Given the description of an element on the screen output the (x, y) to click on. 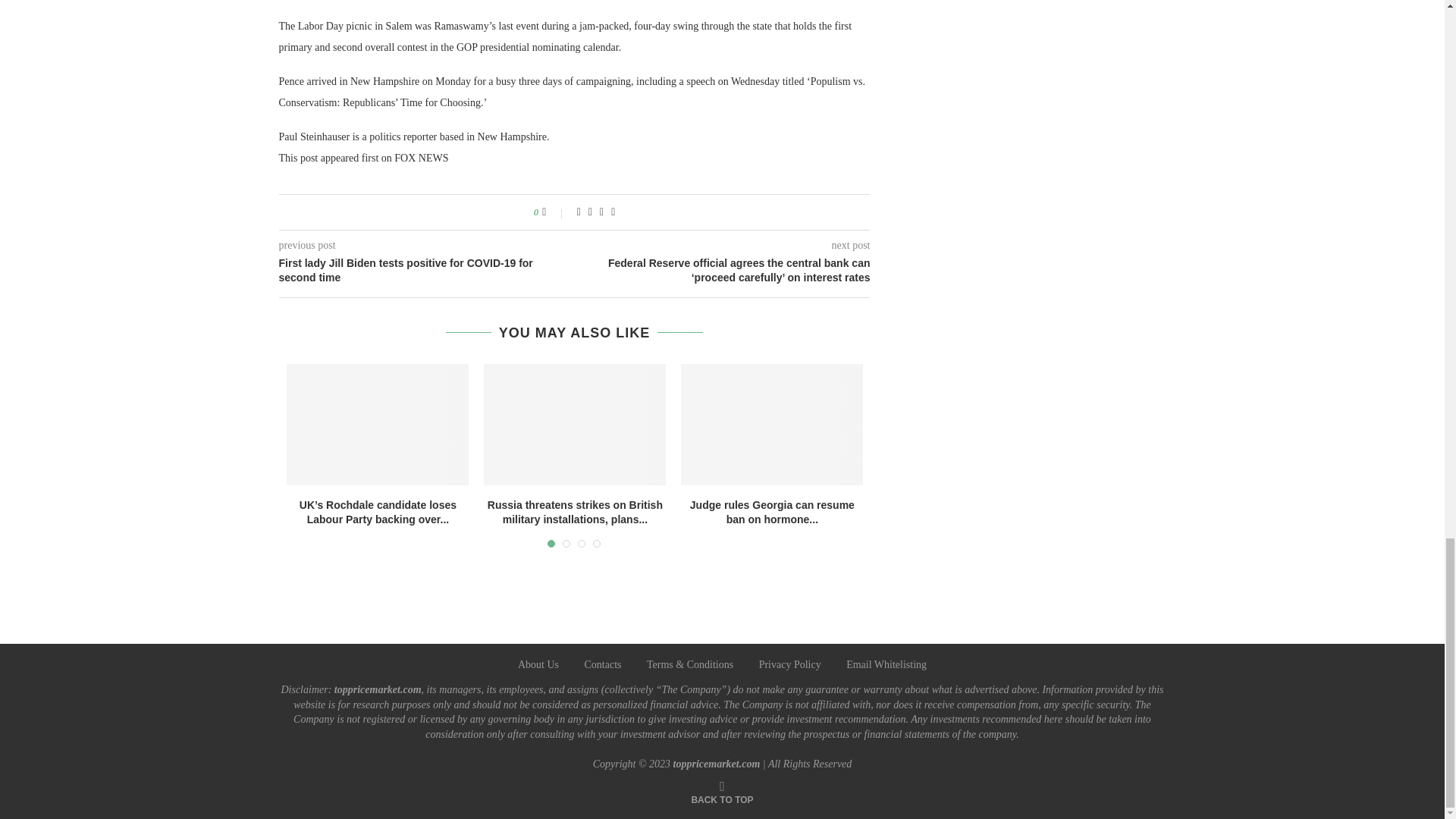
Like (553, 212)
Judge rules Georgia can resume ban on hormone... (772, 512)
